Given the description of an element on the screen output the (x, y) to click on. 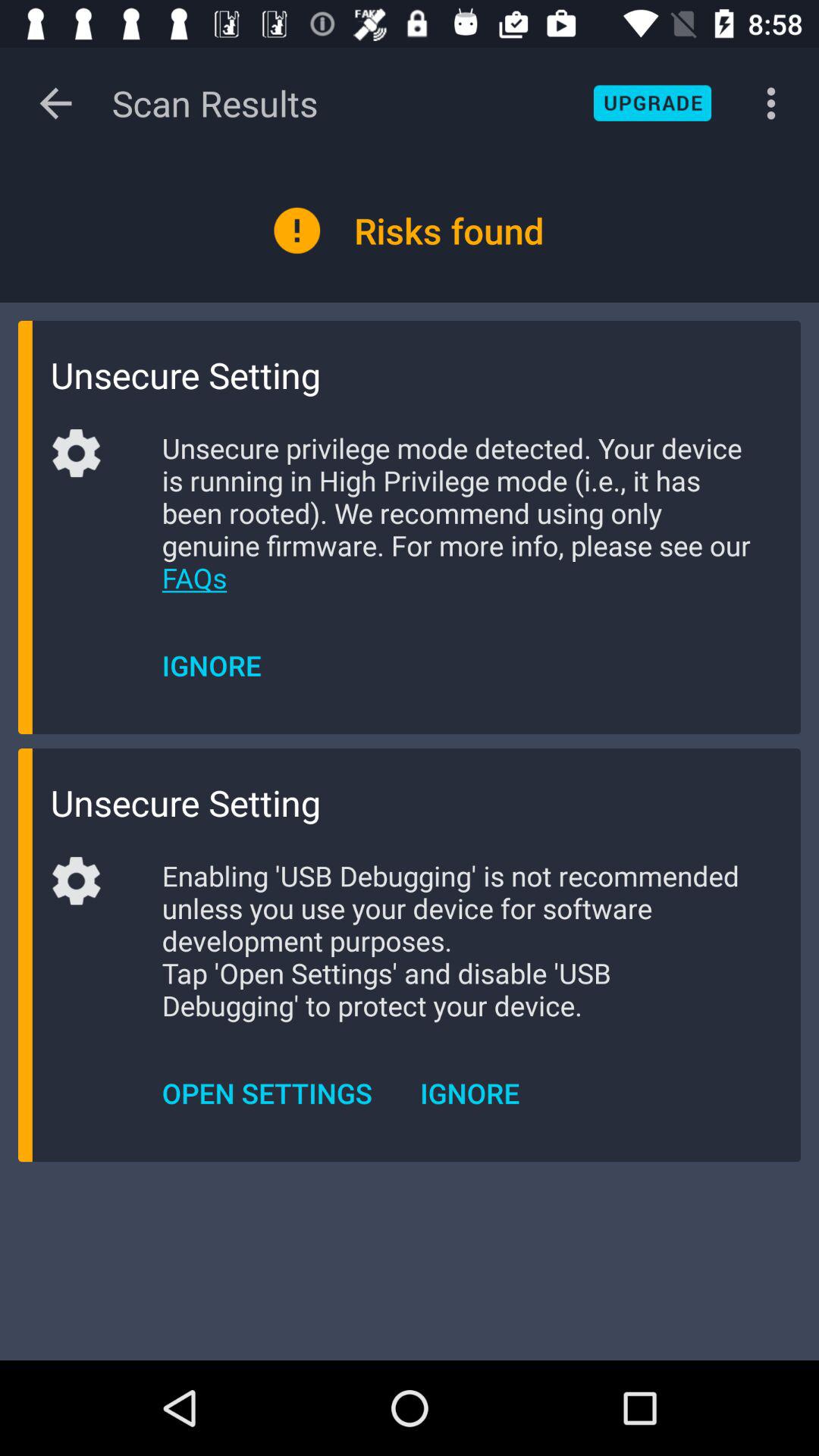
choose the item to the left of the scan results (55, 103)
